Given the description of an element on the screen output the (x, y) to click on. 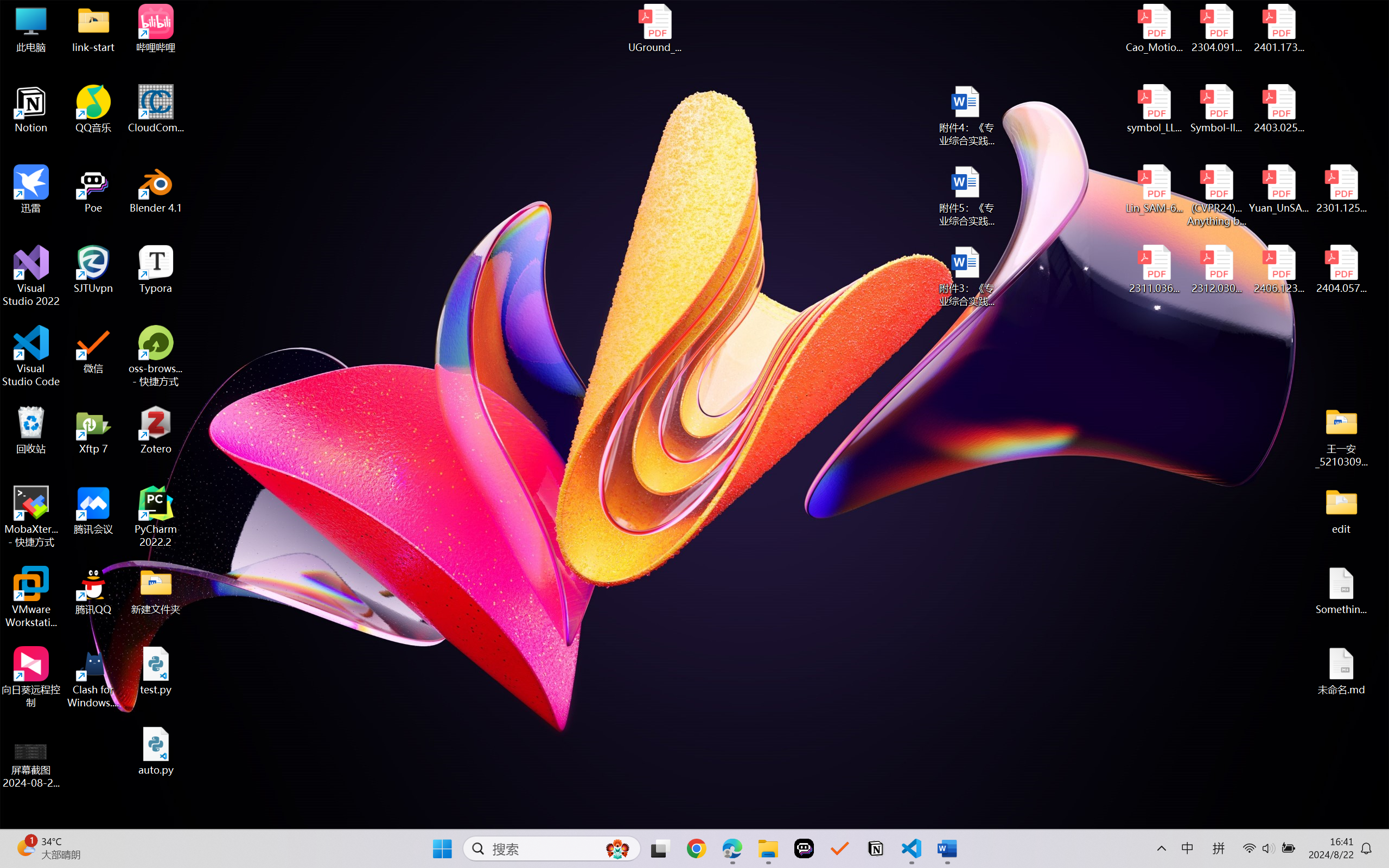
2404.05719v1.pdf (1340, 269)
Typora (156, 269)
Something.md (1340, 591)
2312.03032v2.pdf (1216, 269)
2406.12373v2.pdf (1278, 269)
SJTUvpn (93, 269)
